Given the description of an element on the screen output the (x, y) to click on. 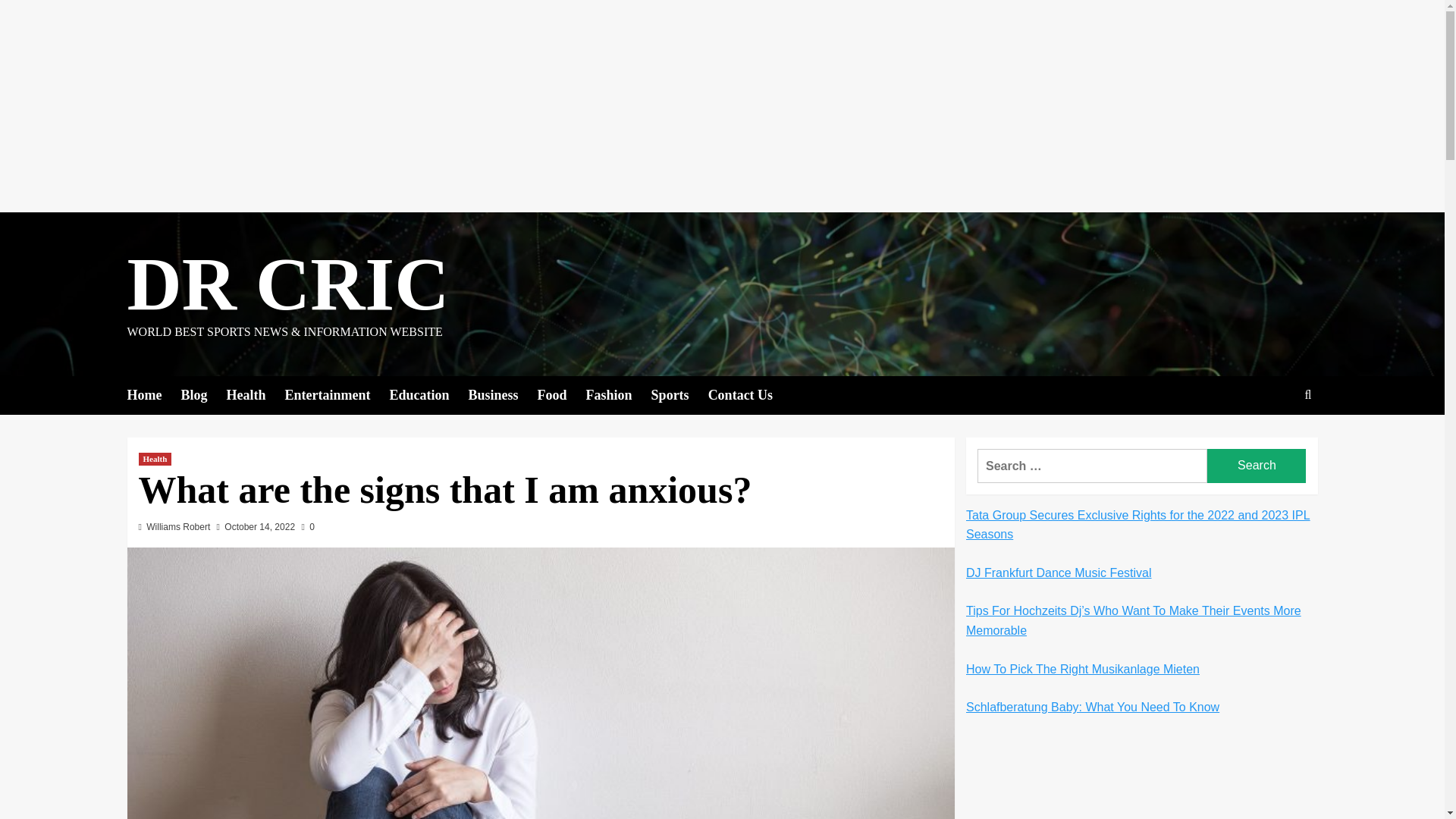
Food (561, 394)
Business (502, 394)
Williams Robert (178, 526)
Home (154, 394)
Sports (678, 394)
Fashion (618, 394)
Entertainment (337, 394)
October 14, 2022 (259, 526)
Search (1256, 465)
Contact Us (749, 394)
Education (427, 394)
Search (1272, 441)
DR CRIC (288, 283)
Health (254, 394)
